Given the description of an element on the screen output the (x, y) to click on. 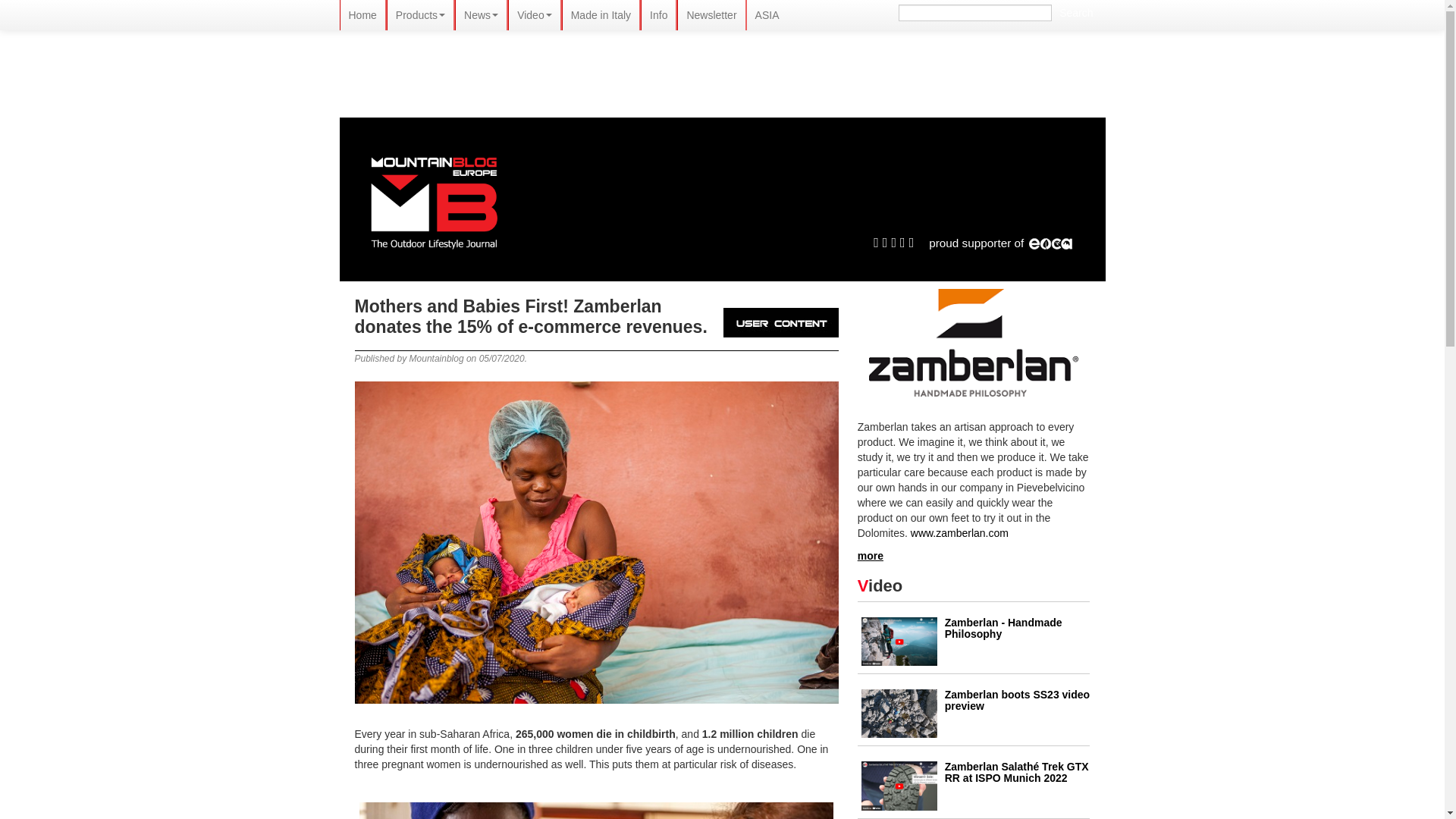
Newsletter (711, 15)
Search (1075, 12)
MountainBlog Europe (434, 199)
News (480, 15)
Search (1075, 12)
Products (419, 15)
Zamberlan boots SS23 video preview (1016, 699)
EOCA (1050, 243)
Info (658, 15)
ASIA (766, 15)
Zamberlan - Handmade Philosophy (1003, 627)
Products (419, 15)
Home (361, 15)
MountainBlog Europe (434, 202)
Zamberlan (973, 342)
